Given the description of an element on the screen output the (x, y) to click on. 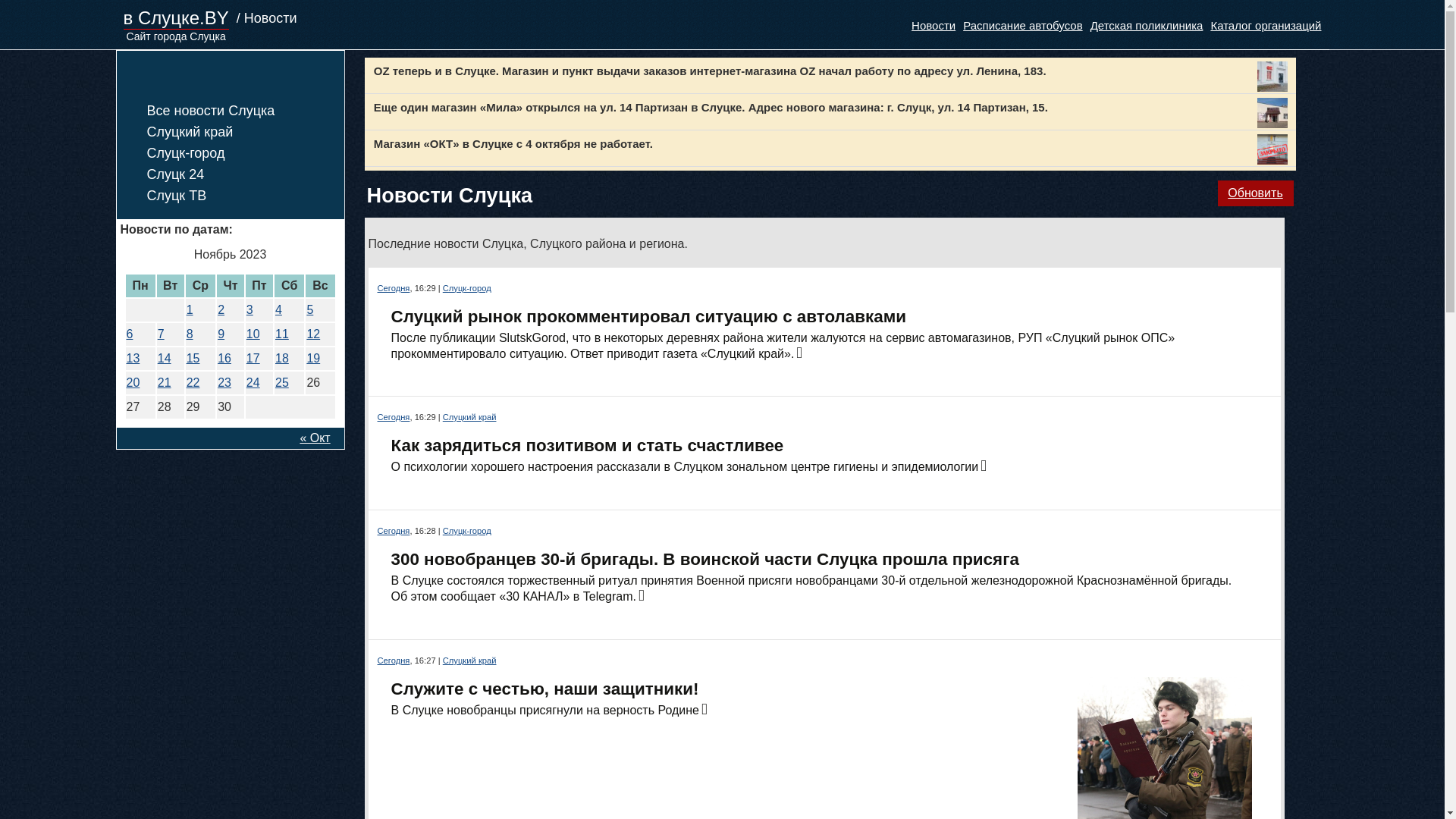
21 Element type: text (164, 382)
15 Element type: text (193, 357)
2 Element type: text (220, 309)
17 Element type: text (253, 357)
7 Element type: text (160, 333)
14 Element type: text (164, 357)
24 Element type: text (253, 382)
23 Element type: text (224, 382)
13 Element type: text (132, 357)
8 Element type: text (189, 333)
12 Element type: text (313, 333)
18 Element type: text (281, 357)
1 Element type: text (189, 309)
4 Element type: text (278, 309)
22 Element type: text (193, 382)
6 Element type: text (128, 333)
11 Element type: text (281, 333)
5 Element type: text (309, 309)
19 Element type: text (313, 357)
3 Element type: text (249, 309)
25 Element type: text (281, 382)
9 Element type: text (220, 333)
10 Element type: text (253, 333)
16 Element type: text (224, 357)
20 Element type: text (132, 382)
